Given the description of an element on the screen output the (x, y) to click on. 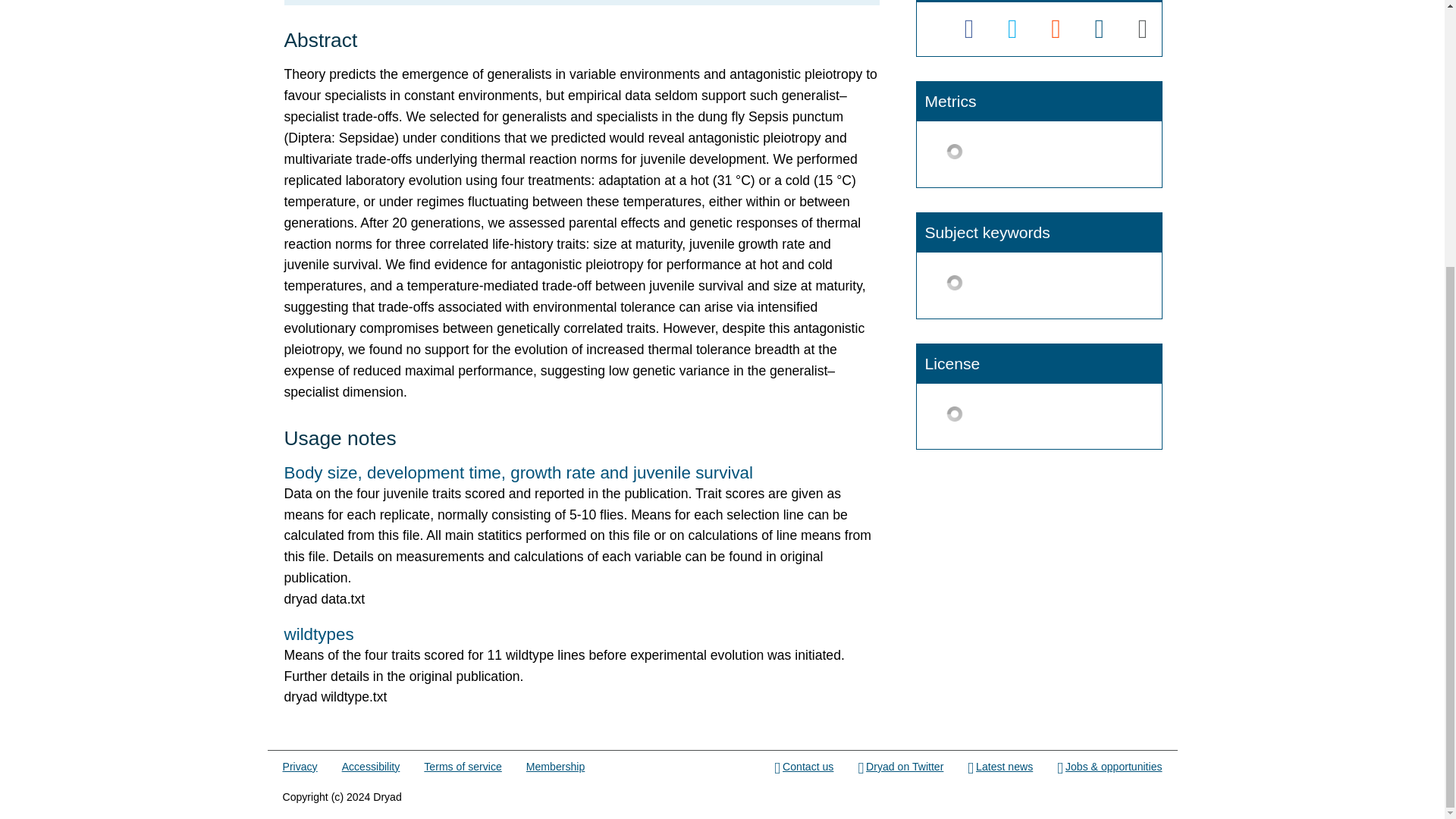
Accessibility (371, 767)
Membership (555, 767)
Privacy (299, 767)
Terms of service (461, 767)
Contact us (803, 767)
